Given the description of an element on the screen output the (x, y) to click on. 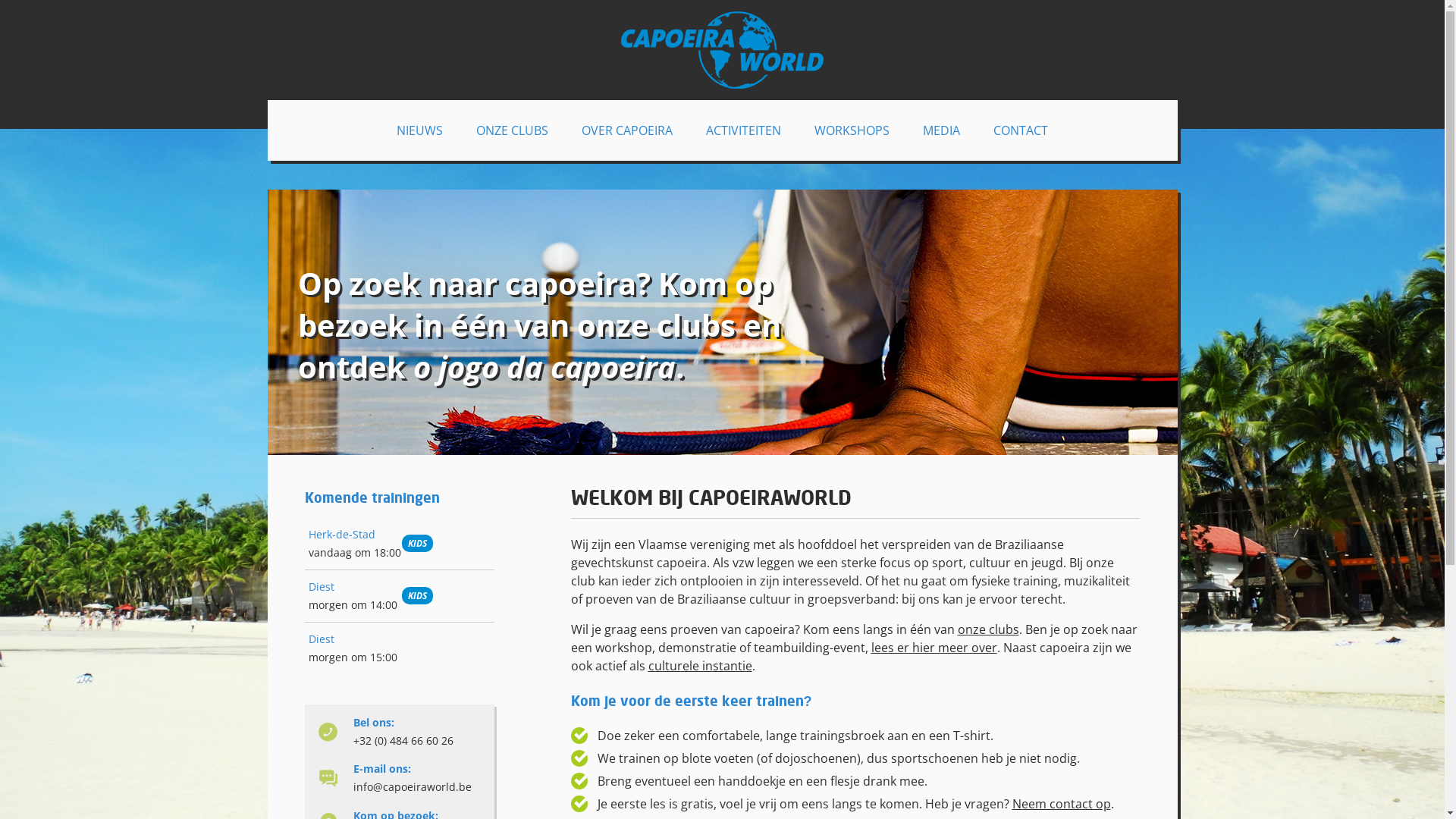
ONZE CLUBS Element type: text (511, 130)
onze clubs Element type: text (987, 629)
ACTIVITEITEN Element type: text (743, 130)
MEDIA Element type: text (941, 130)
NIEUWS Element type: text (419, 130)
Neem contact op Element type: text (1060, 803)
+32 (0) 484 66 60 26 Element type: text (403, 740)
culturele instantie Element type: text (699, 665)
Home - Capoeiraworld Element type: hover (722, 50)
WORKSHOPS Element type: text (851, 130)
CONTACT Element type: text (1020, 130)
OVER CAPOEIRA Element type: text (627, 130)
lees er hier meer over Element type: text (933, 647)
